Given the description of an element on the screen output the (x, y) to click on. 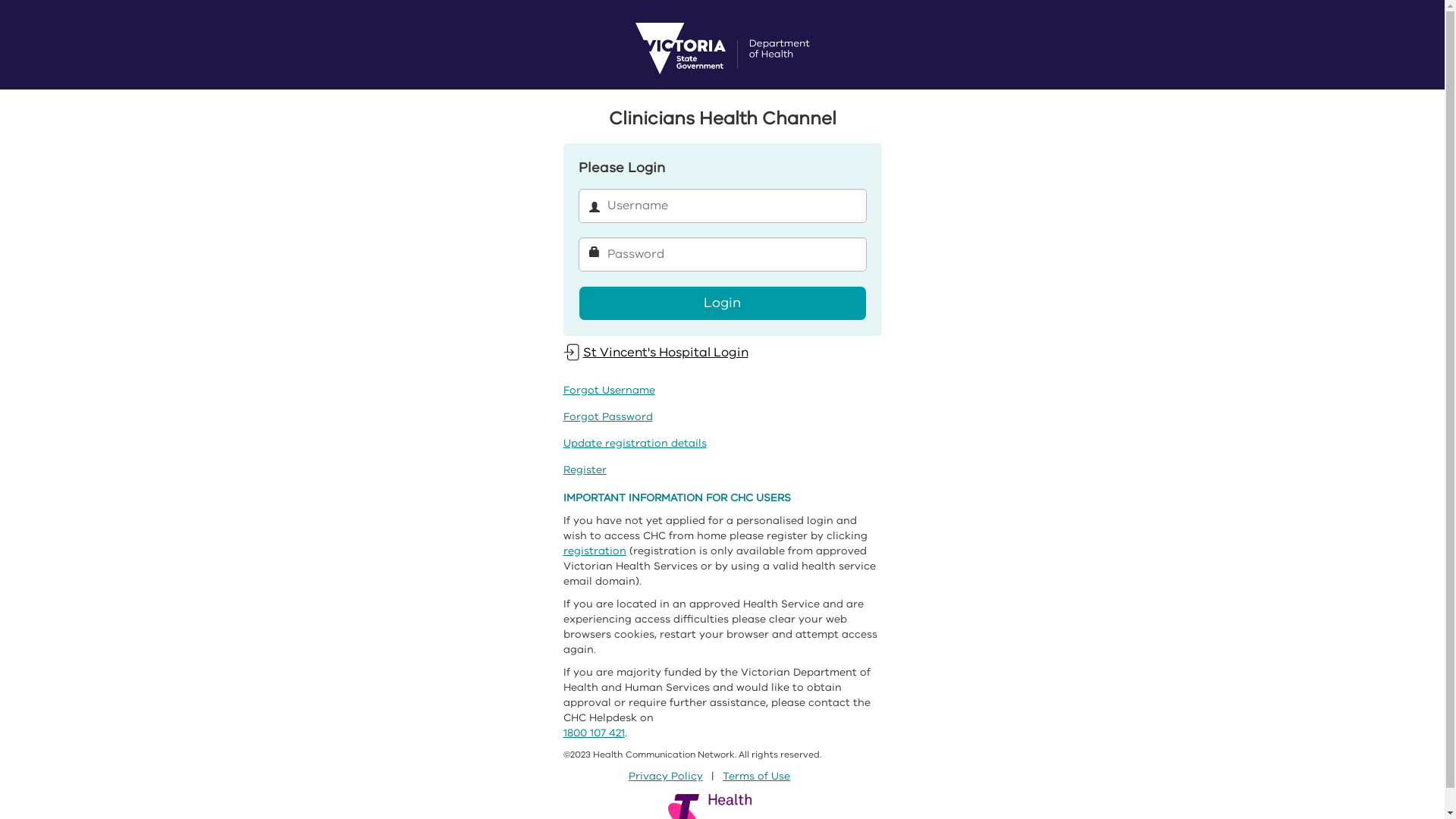
Register Element type: text (583, 469)
registration Element type: text (593, 550)
Forgot Username Element type: text (608, 389)
Terms of Use Element type: text (756, 775)
1800 107 421 Element type: text (593, 732)
Update registration details Element type: text (634, 443)
St Vincent's Hospital Login Element type: text (654, 351)
Forgot Password Element type: text (607, 416)
Privacy Policy Element type: text (665, 775)
Login Element type: text (721, 302)
